Given the description of an element on the screen output the (x, y) to click on. 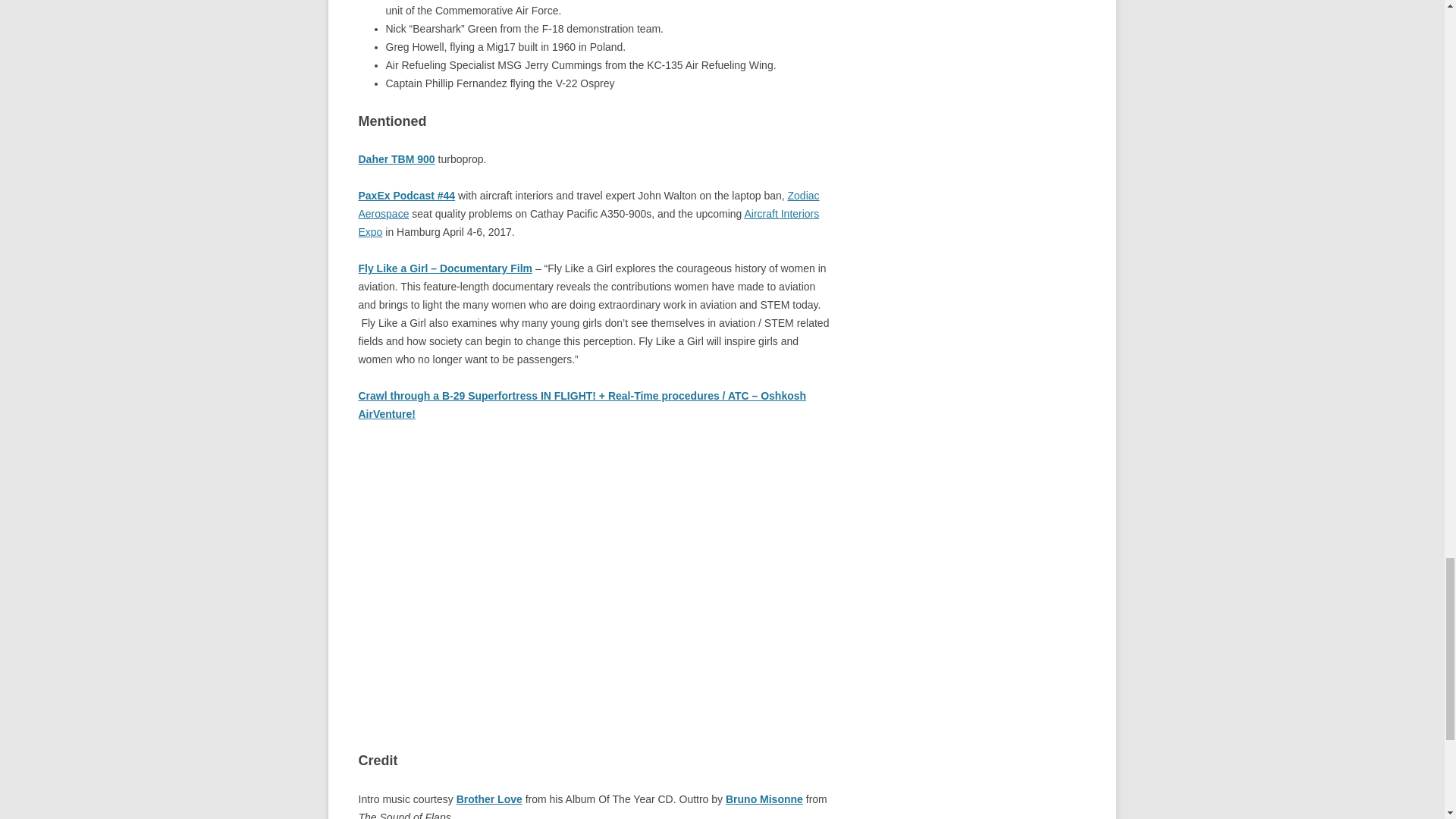
Zodiac Aerospace (588, 204)
Aircraft Interiors Expo (588, 223)
Daher TBM 900 (395, 159)
